Given the description of an element on the screen output the (x, y) to click on. 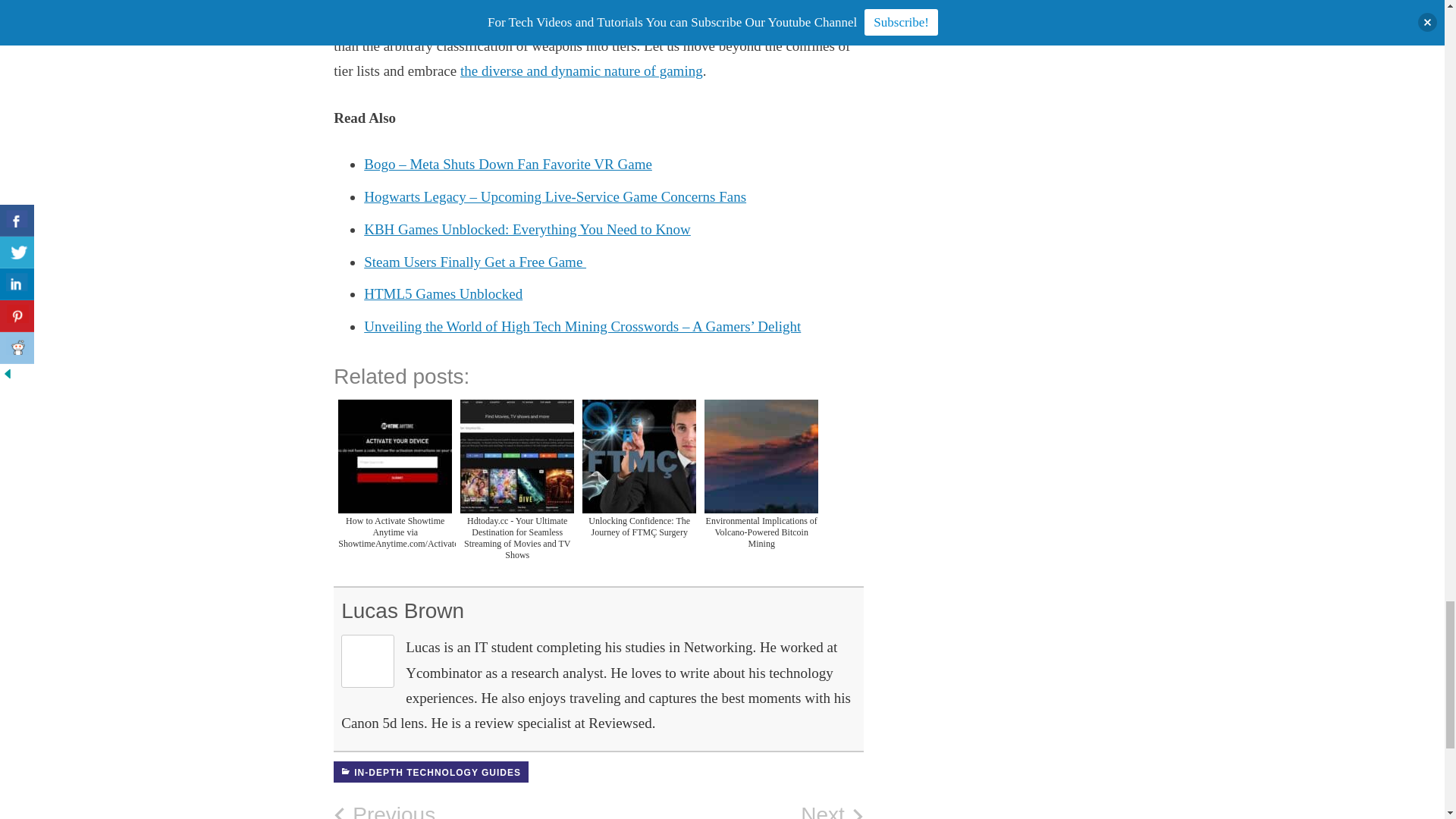
KBH Games Unblocked: Everything You Need to Know (527, 229)
Lucas Brown (730, 810)
the diverse and dynamic nature of gaming (465, 810)
HTML5 Games Unblocked (402, 610)
IN-DEPTH TECHNOLOGY GUIDES (581, 70)
All posts by Lucas Brown (443, 293)
Steam Users Finally Get a Free Game  (430, 771)
